Given the description of an element on the screen output the (x, y) to click on. 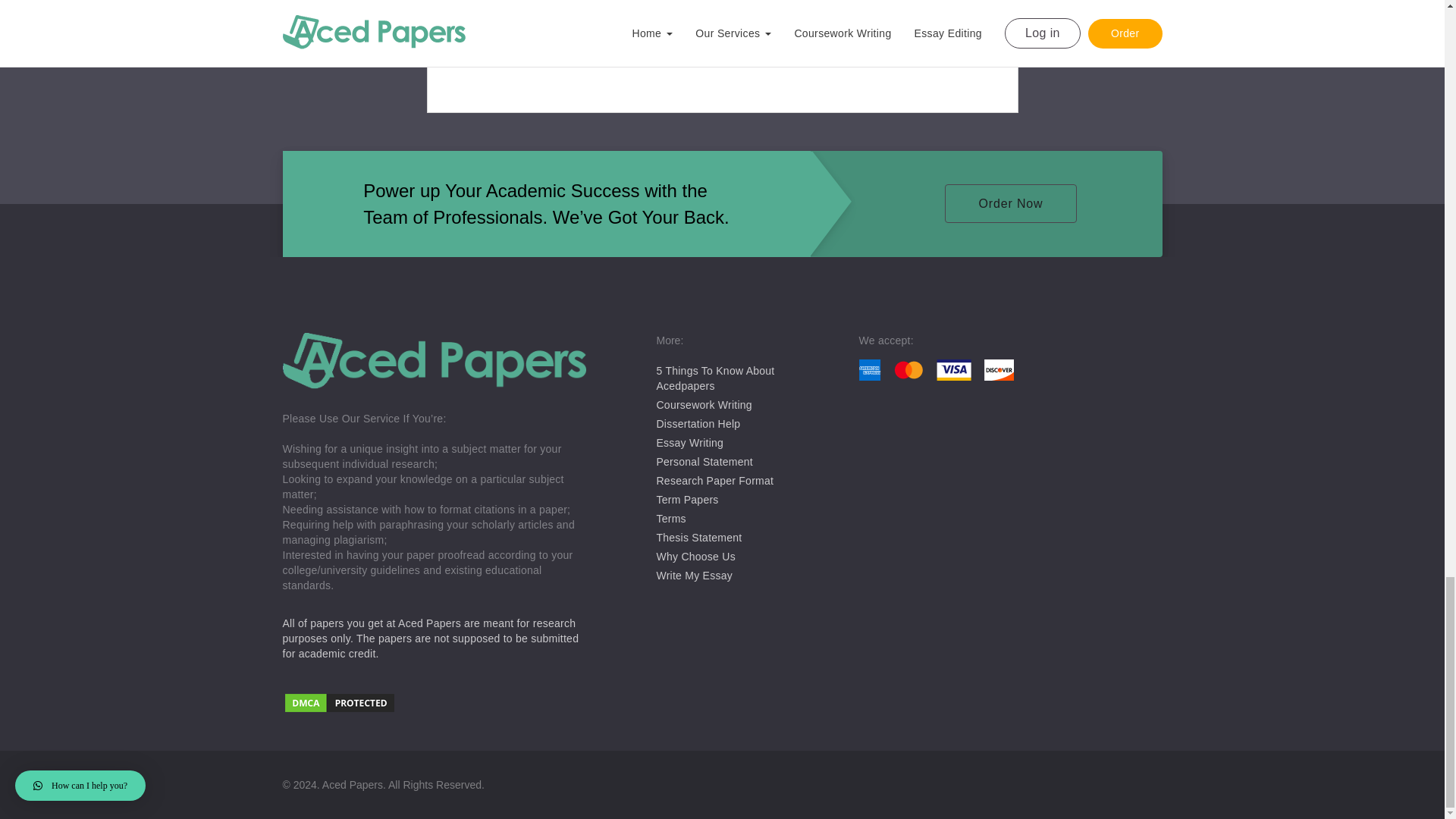
DMCA.com Protection Status (433, 703)
